Given the description of an element on the screen output the (x, y) to click on. 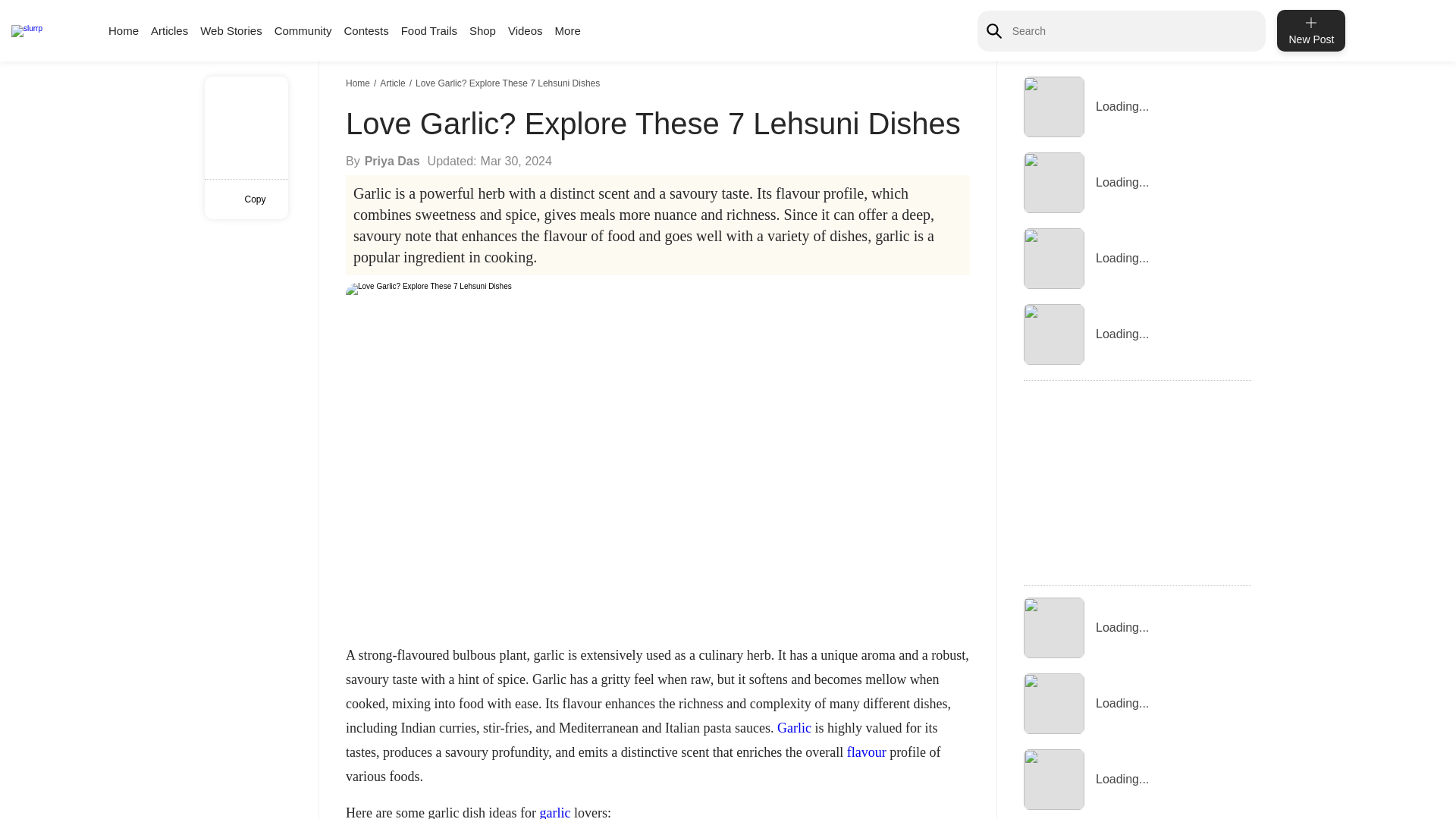
New Post (1310, 30)
Food Trails (429, 30)
Web Stories (231, 30)
Shop (482, 30)
Videos (525, 30)
Contests (365, 30)
Home (360, 82)
Articles (169, 30)
Article (394, 82)
Community (303, 30)
